Given the description of an element on the screen output the (x, y) to click on. 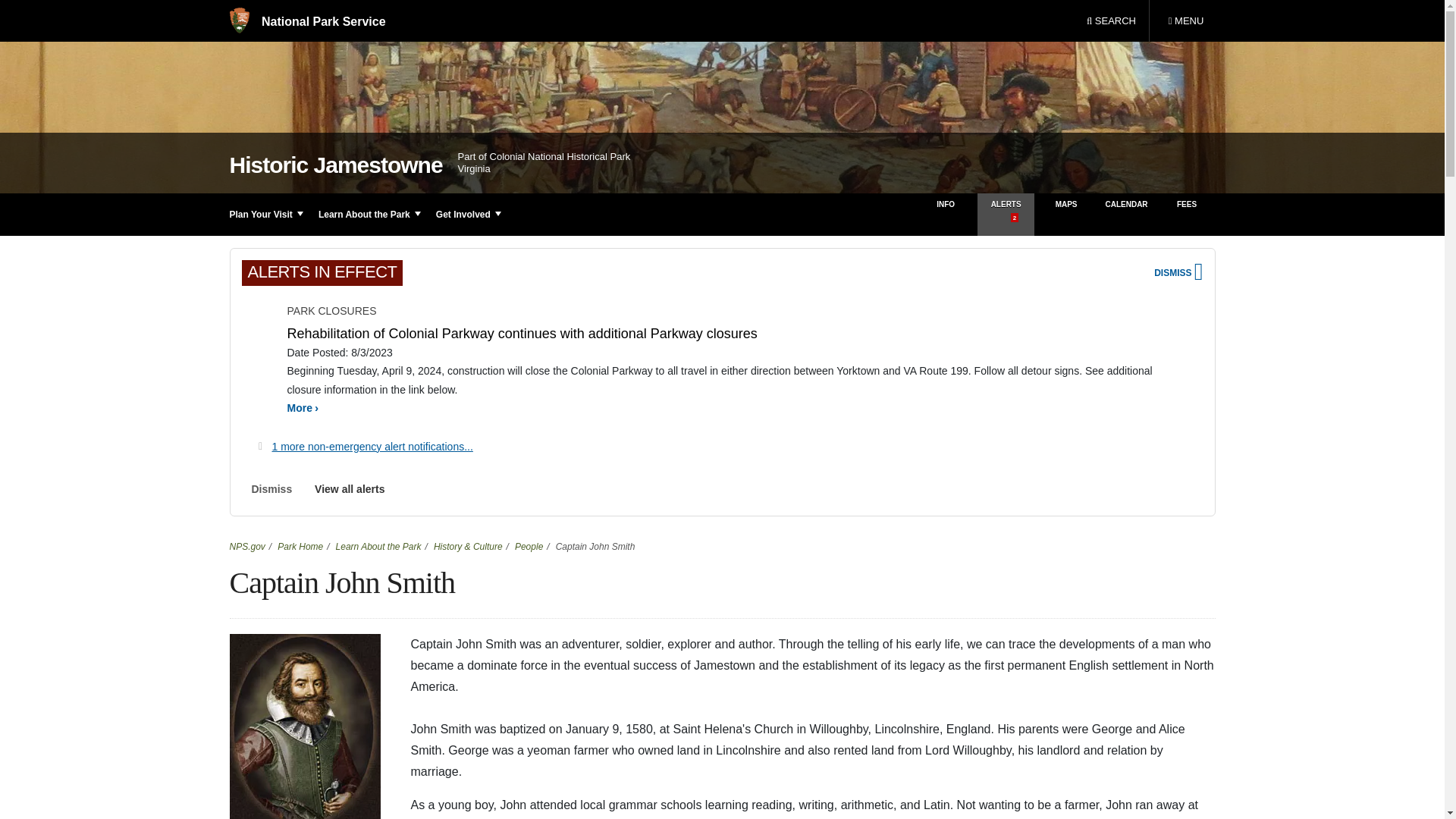
Alert Level Park Closure (259, 338)
National Park Service (1185, 20)
SEARCH (307, 20)
